Given the description of an element on the screen output the (x, y) to click on. 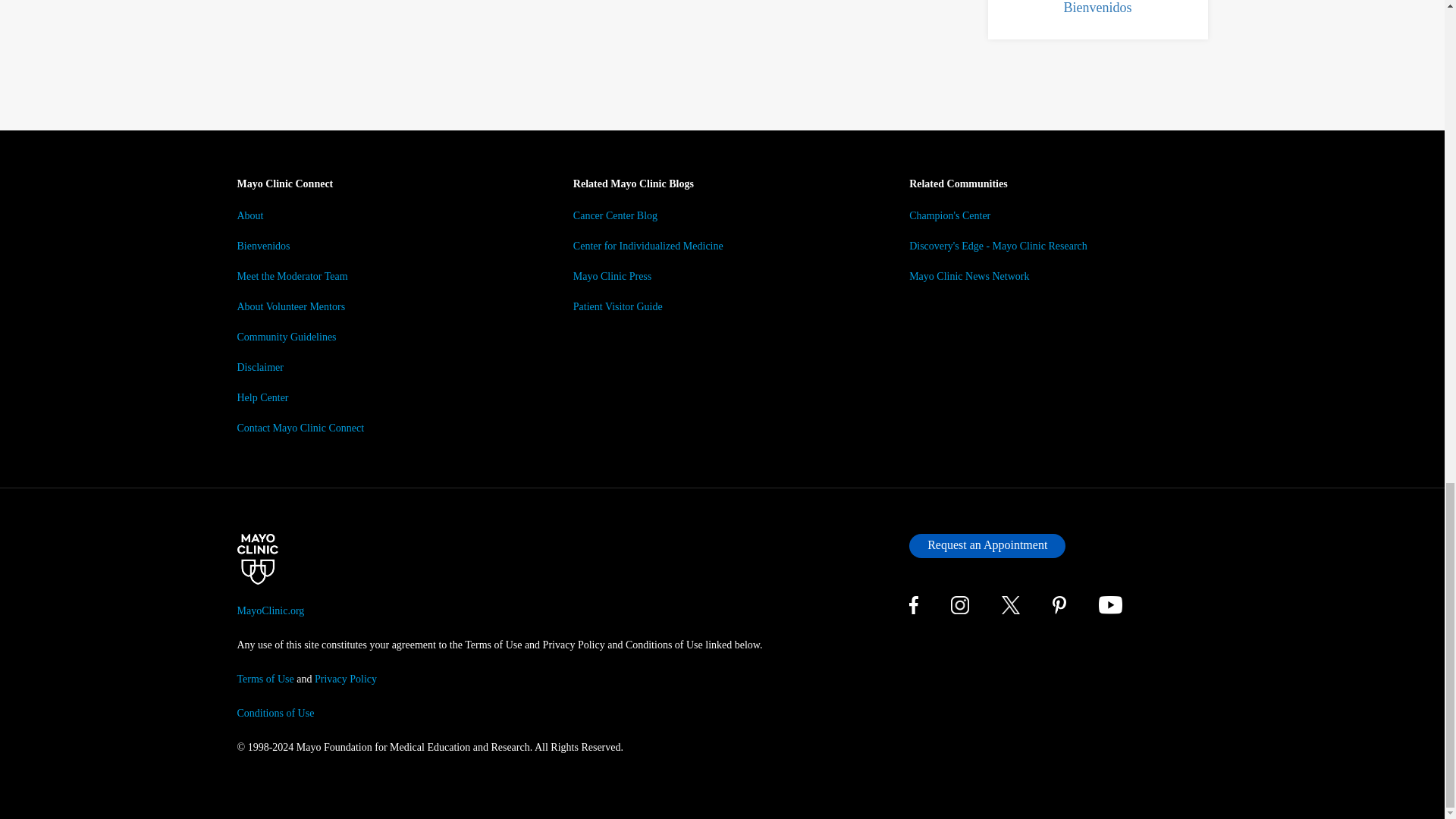
Community Guidelines (285, 337)
About (249, 215)
Disclaimer (258, 367)
Bienvenidos (1096, 7)
Patient Visitor Guide (617, 306)
Help Center (261, 397)
Contact Mayo Clinic Connect (299, 428)
Center for Individualized Medicine (648, 245)
About Volunteer Mentors (290, 306)
Cancer Center Blog (615, 215)
Discovery's Edge - Mayo Clinic Research (997, 245)
Meet the Moderator Team (291, 276)
Mayo Clinic Press (611, 276)
Champion's Center (949, 215)
Bienvenidos (262, 245)
